Given the description of an element on the screen output the (x, y) to click on. 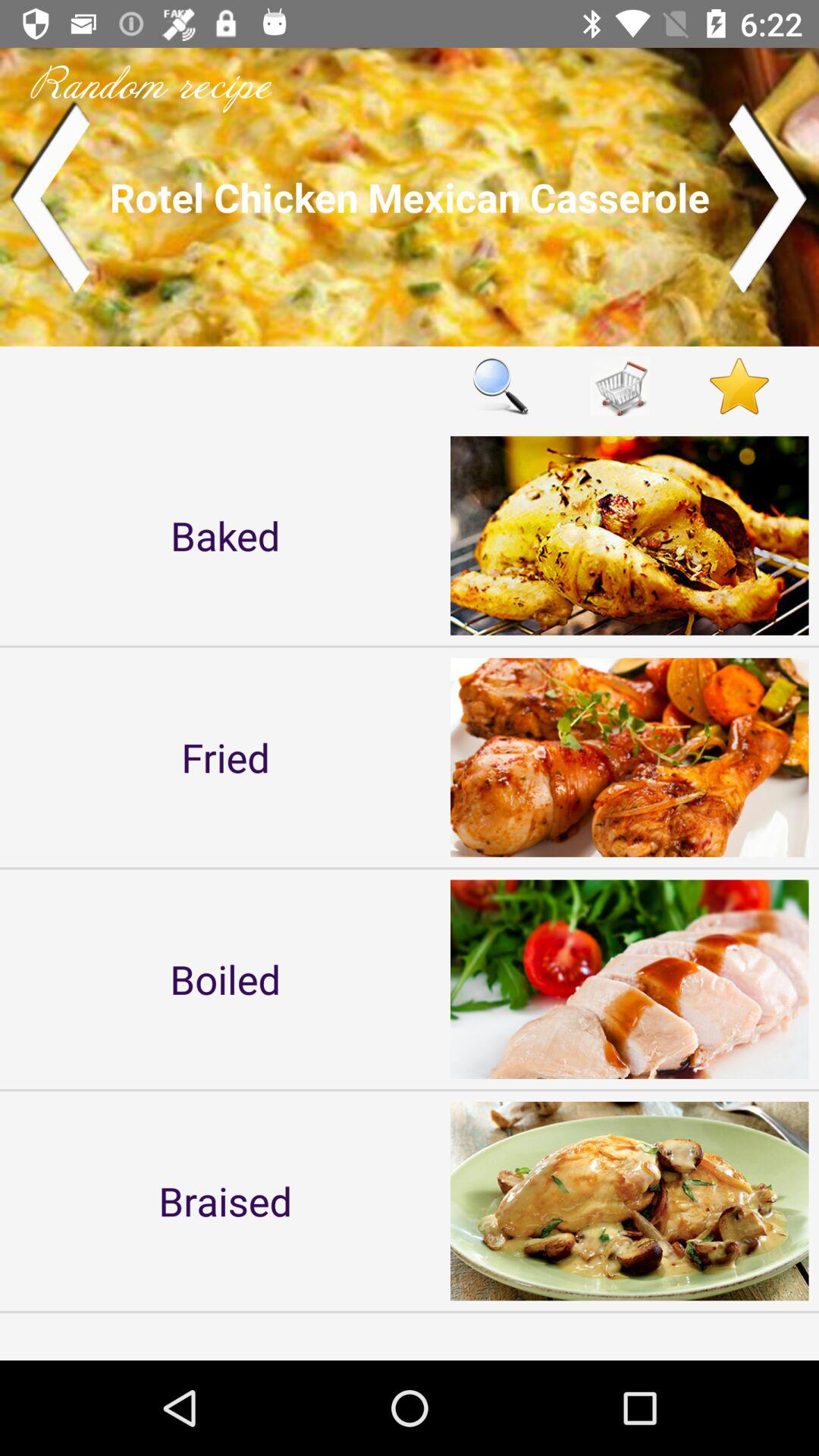
click to search option (500, 385)
